Given the description of an element on the screen output the (x, y) to click on. 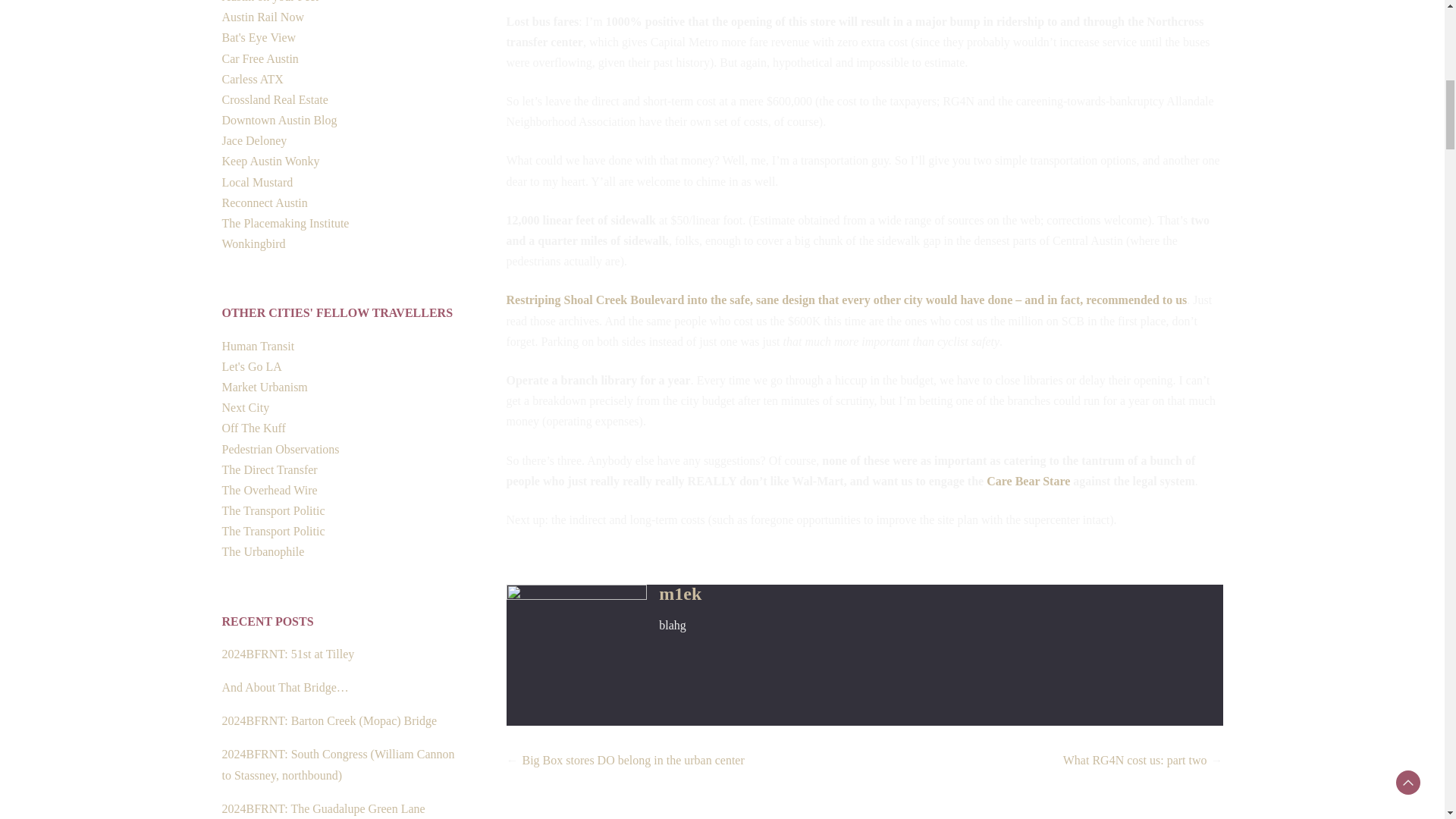
Great new blog about living car-free in Austin (259, 58)
Austin on your Feet (269, 1)
Care Bear Stare (1028, 481)
Andrei Lubomudrov (258, 37)
What RG4N cost us: part two (1134, 759)
m1ek (680, 593)
Less cars, less of the time, in Austin (251, 78)
Big Box stores DO belong in the urban center (632, 759)
Austin Rail Now (261, 16)
Lyndon Henry and Dave Dobbs (261, 16)
